Given the description of an element on the screen output the (x, y) to click on. 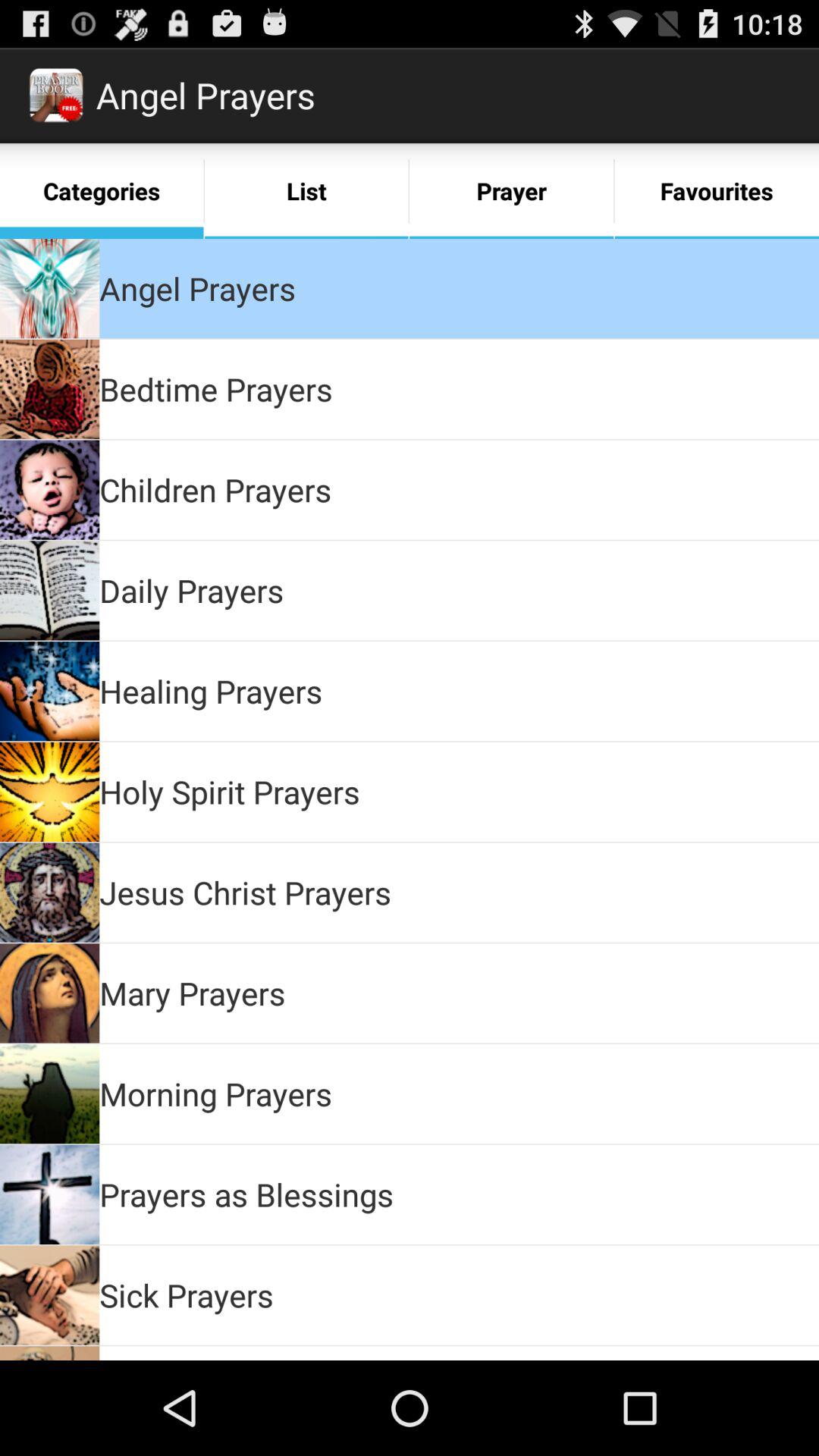
scroll until the jesus christ prayers item (245, 891)
